Given the description of an element on the screen output the (x, y) to click on. 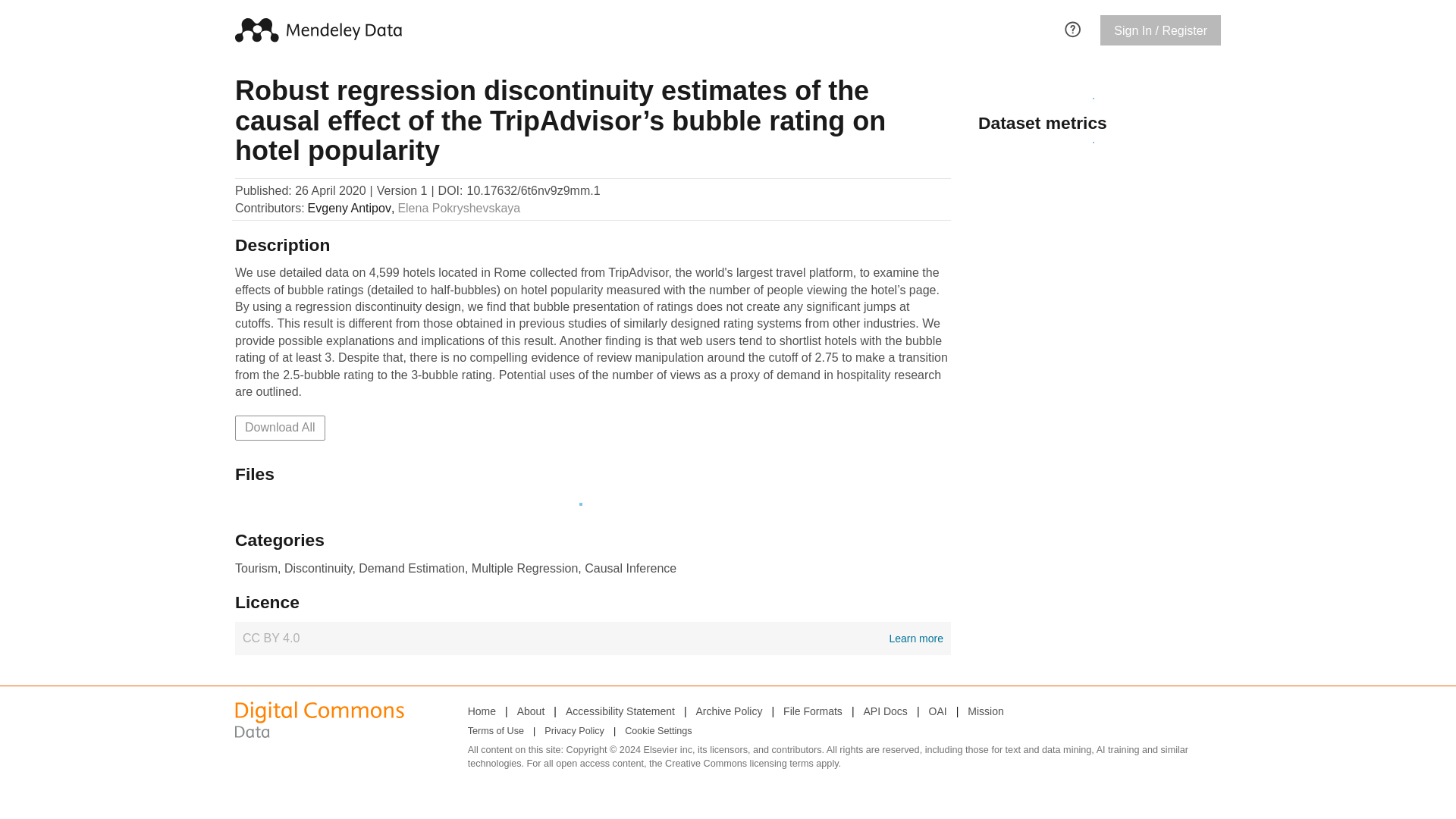
API Docs (592, 638)
Archive Policy (885, 711)
Home (728, 711)
About (481, 711)
Elena Pokryshevskaya (530, 711)
OAI (458, 208)
Cookie Settings (937, 711)
Terms of Use (657, 731)
Download All (495, 731)
